Given the description of an element on the screen output the (x, y) to click on. 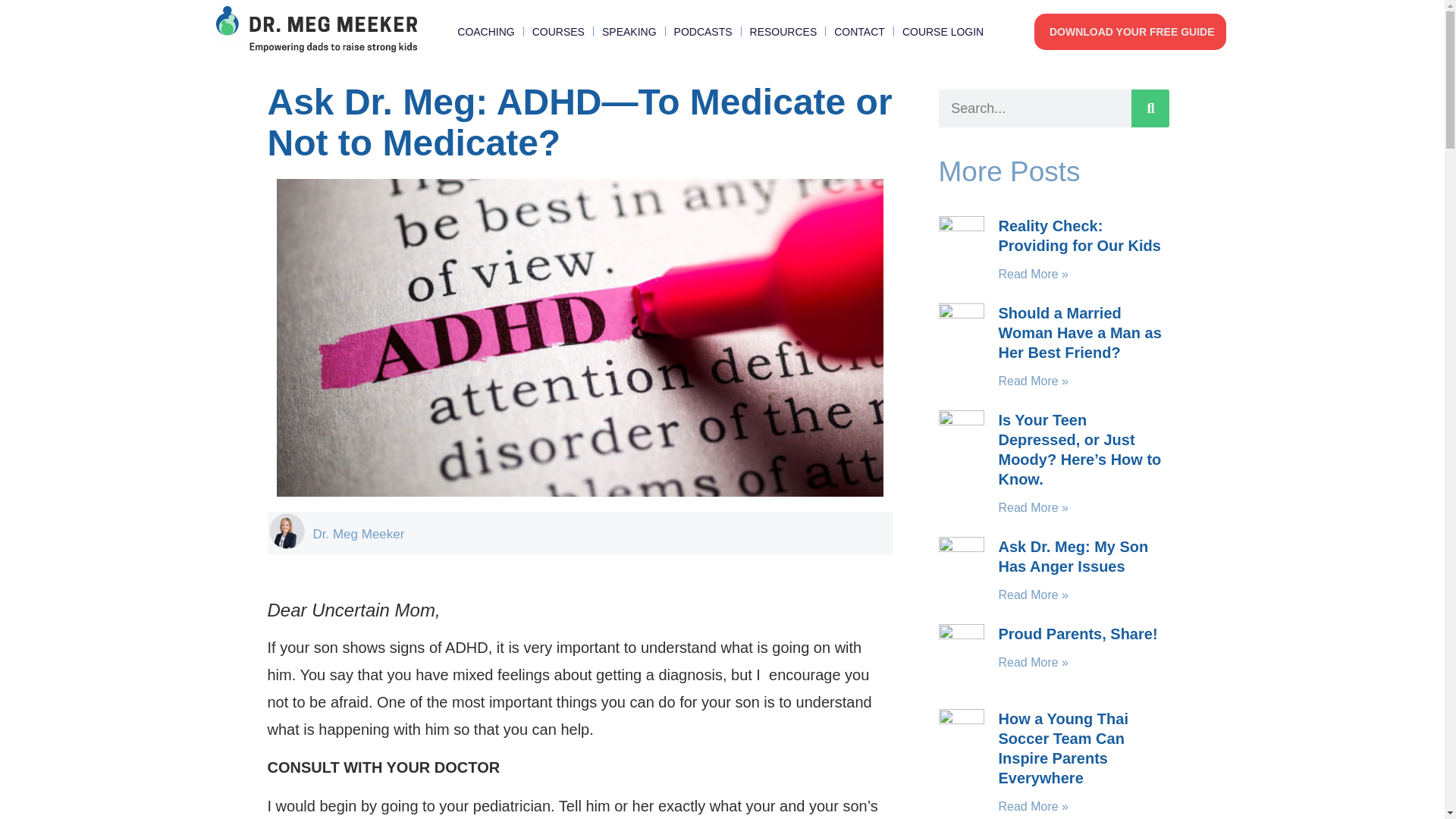
COURSE LOGIN (943, 31)
RESOURCES (782, 31)
COURSES (558, 31)
COACHING (485, 31)
SPEAKING (629, 31)
PODCASTS (703, 31)
CONTACT (859, 31)
